Given the description of an element on the screen output the (x, y) to click on. 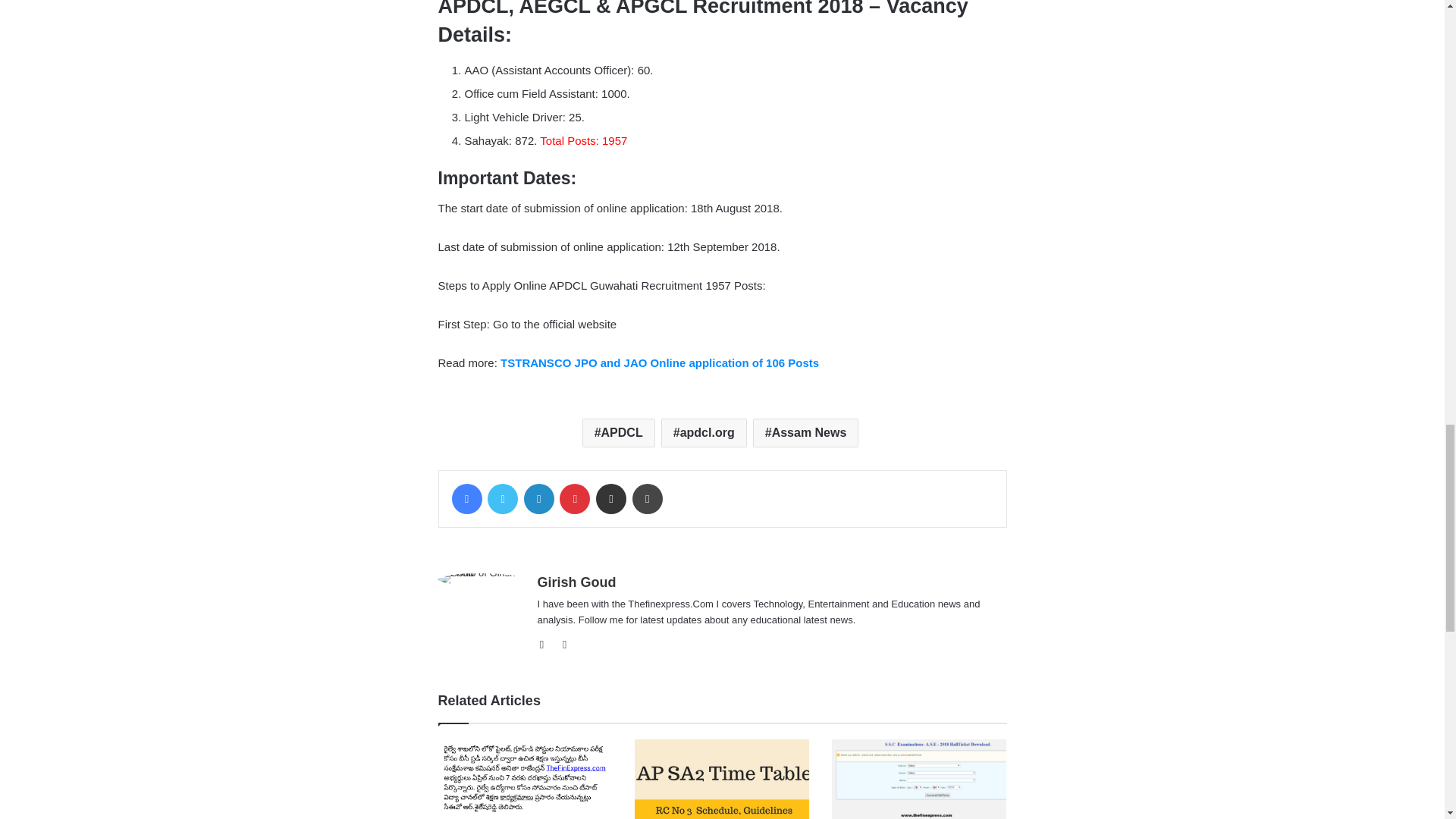
APDCL (618, 432)
LinkedIn (539, 499)
Facebook (466, 499)
Twitter (563, 644)
Facebook (545, 644)
Share via Email (610, 499)
Pinterest (574, 499)
TSTRANSCO JPO and JAO Online application of 106 Posts (659, 362)
Print (646, 499)
LinkedIn (539, 499)
Twitter (502, 499)
Girish Goud (576, 581)
Facebook (466, 499)
Twitter (502, 499)
apdcl.org (703, 432)
